Given the description of an element on the screen output the (x, y) to click on. 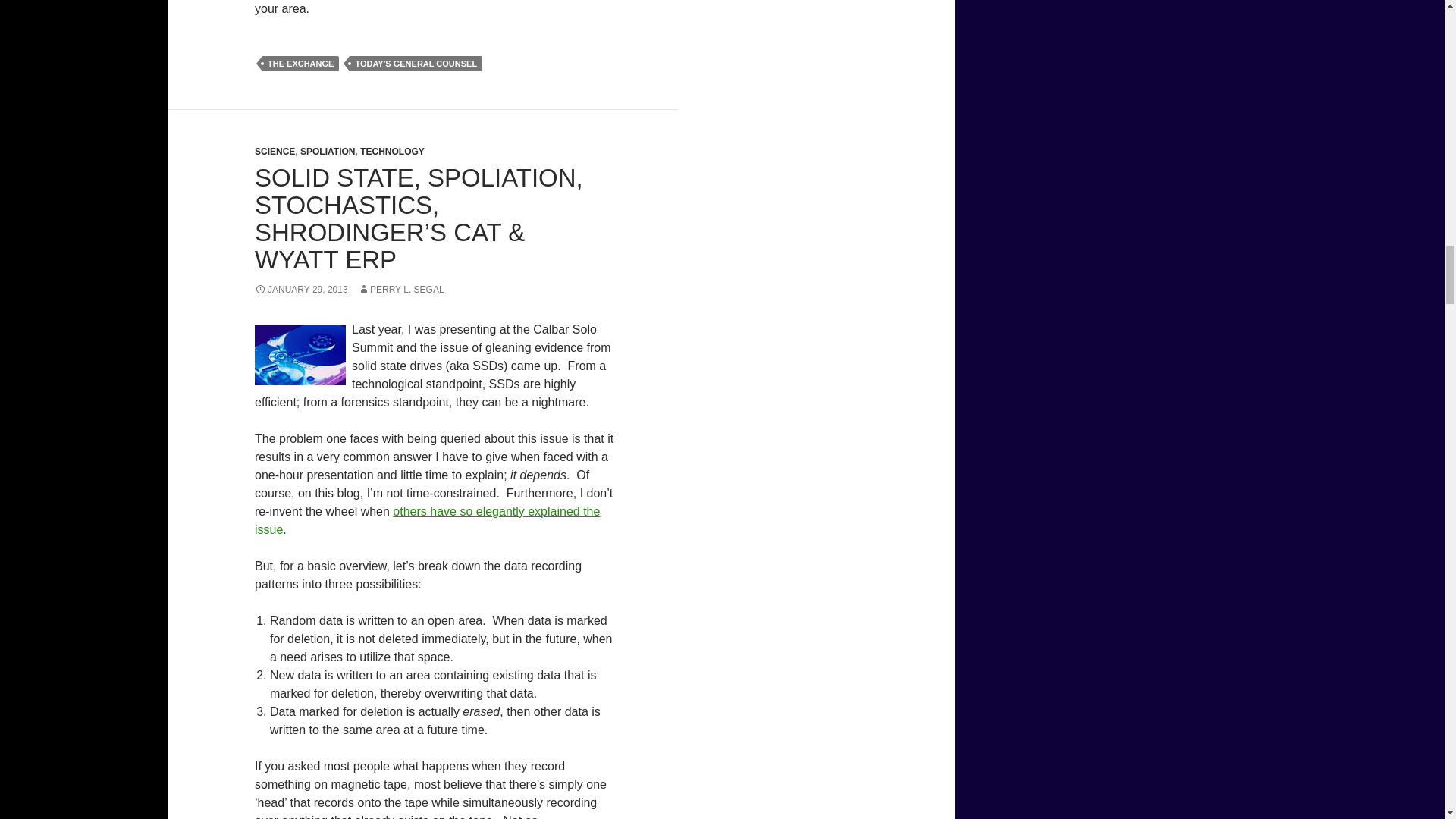
MP900401975 (300, 354)
